Given the description of an element on the screen output the (x, y) to click on. 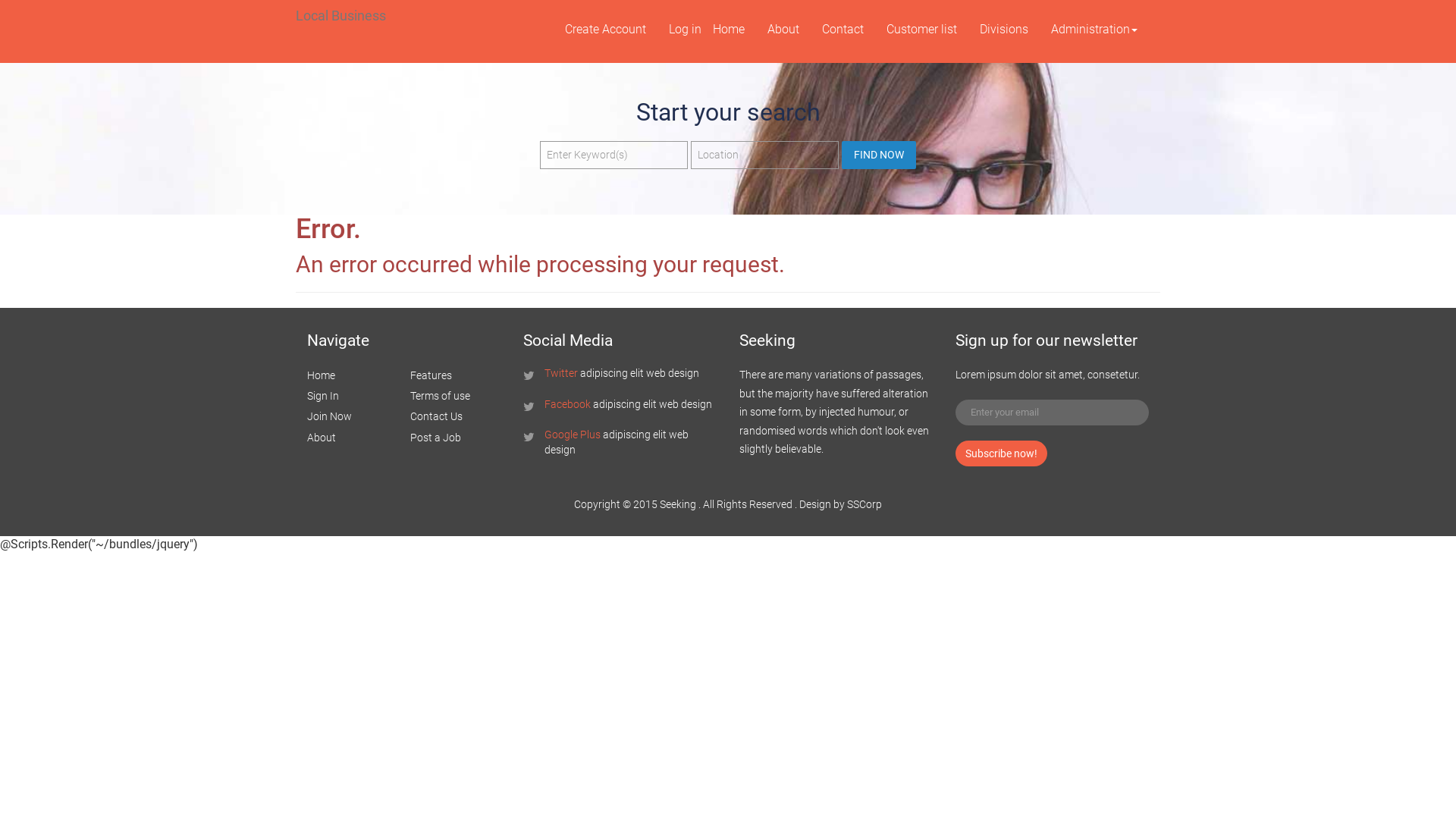
Contact Element type: text (842, 29)
Twitter Element type: text (560, 373)
Local Business Element type: text (340, 15)
Post a Job Element type: text (434, 437)
Find Now Element type: text (878, 155)
Subscribe now! Element type: text (1001, 453)
Features Element type: text (430, 375)
Terms of use Element type: text (439, 395)
Join Now Element type: text (329, 416)
Log in Element type: text (684, 29)
SSCorp Element type: text (864, 504)
Administration Element type: text (1093, 29)
Facebook Element type: text (567, 403)
Home Element type: text (728, 29)
Sign In Element type: text (322, 395)
Contact Us Element type: text (435, 416)
About Element type: text (321, 437)
Google Plus Element type: text (572, 434)
Customer list Element type: text (921, 29)
Create Account Element type: text (605, 29)
Divisions Element type: text (1003, 29)
About Element type: text (783, 29)
Home Element type: text (321, 375)
